Given the description of an element on the screen output the (x, y) to click on. 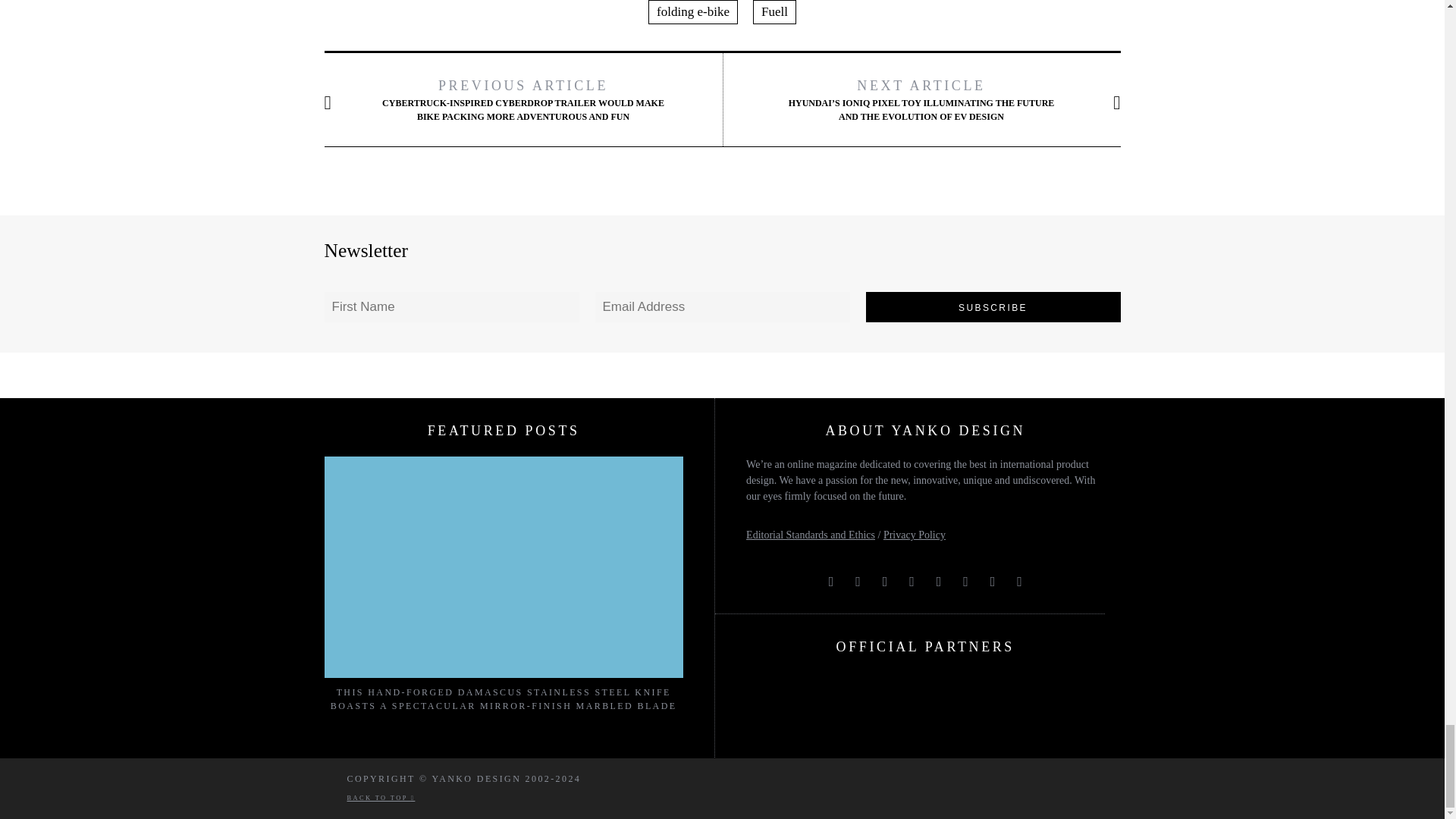
Subscribe (993, 306)
Privacy Policy (913, 534)
Editorial Standards and Ethics (810, 534)
